Given the description of an element on the screen output the (x, y) to click on. 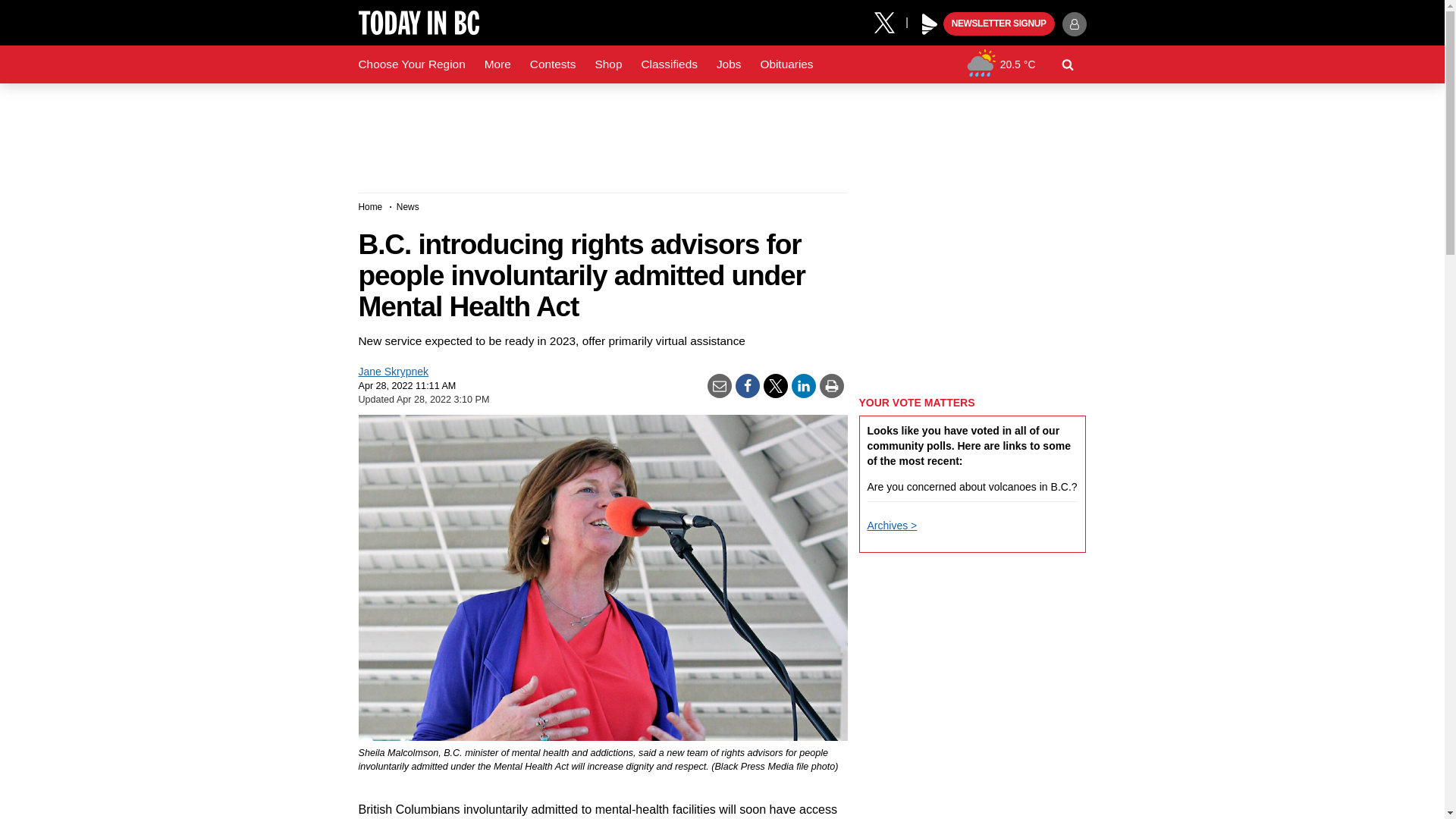
Play (929, 24)
Black Press Media (929, 24)
3rd party ad content (972, 287)
3rd party ad content (721, 131)
Contests (552, 64)
3rd party ad content (972, 662)
NEWSLETTER SIGNUP (998, 24)
3rd party ad content (972, 796)
X (889, 21)
